Given the description of an element on the screen output the (x, y) to click on. 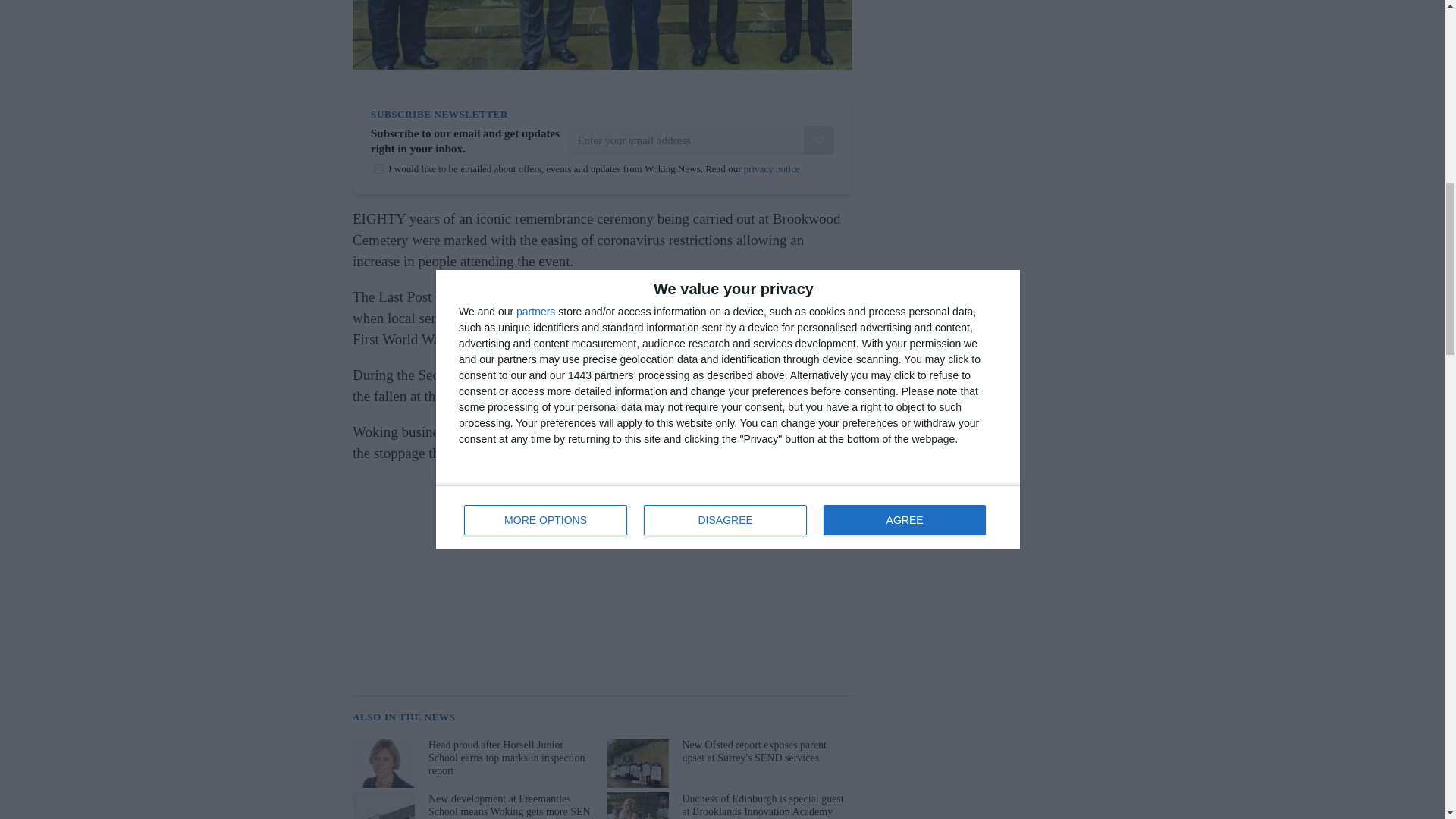
privacy notice (771, 168)
